Given the description of an element on the screen output the (x, y) to click on. 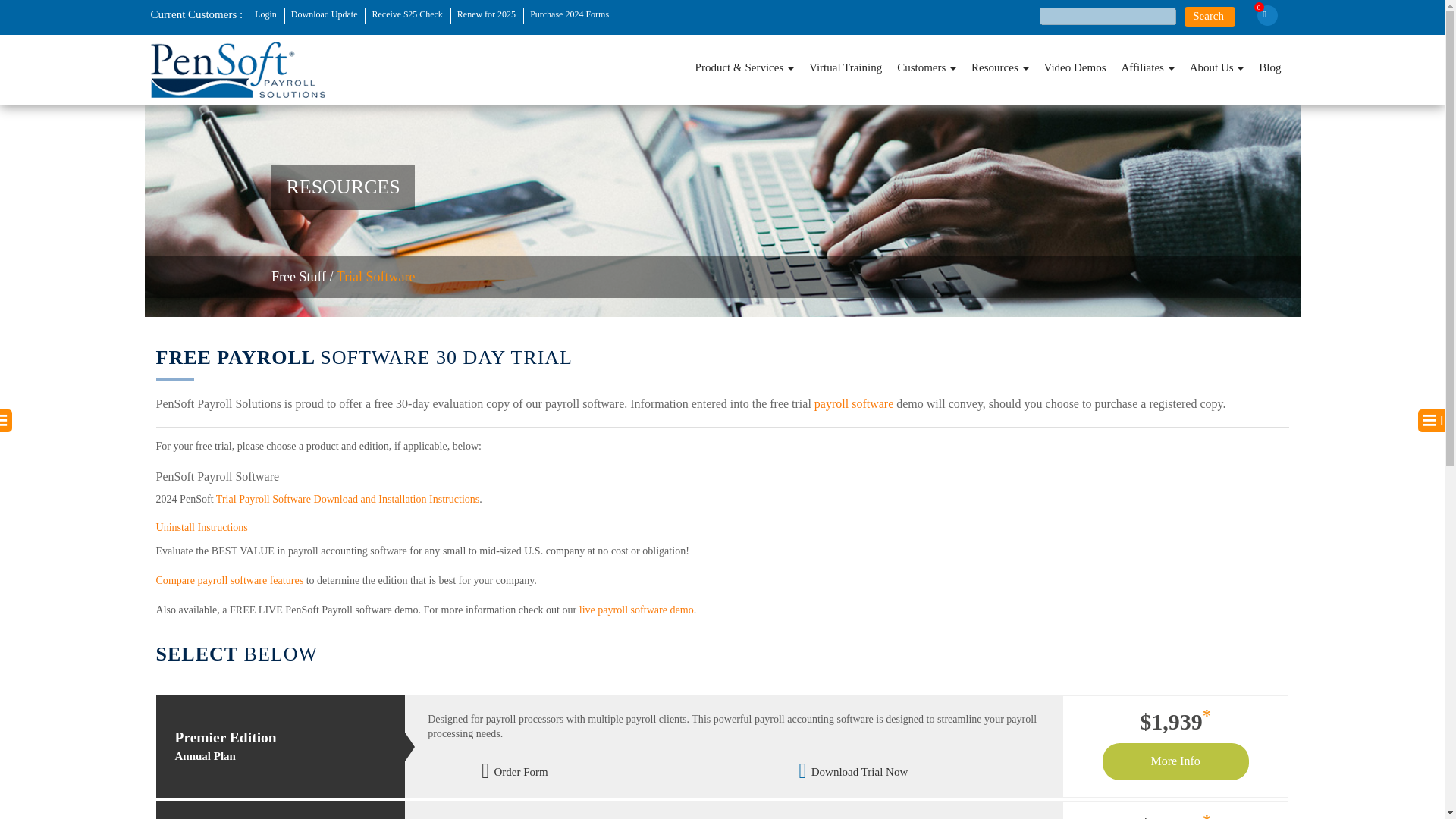
Trial Software (375, 276)
Login (265, 15)
0 (1267, 14)
Purchase 2024 Forms (569, 15)
Search (1210, 15)
Current Customers : (196, 13)
Renew for 2025 (486, 15)
Search (1210, 15)
Download Update (325, 15)
